Given the description of an element on the screen output the (x, y) to click on. 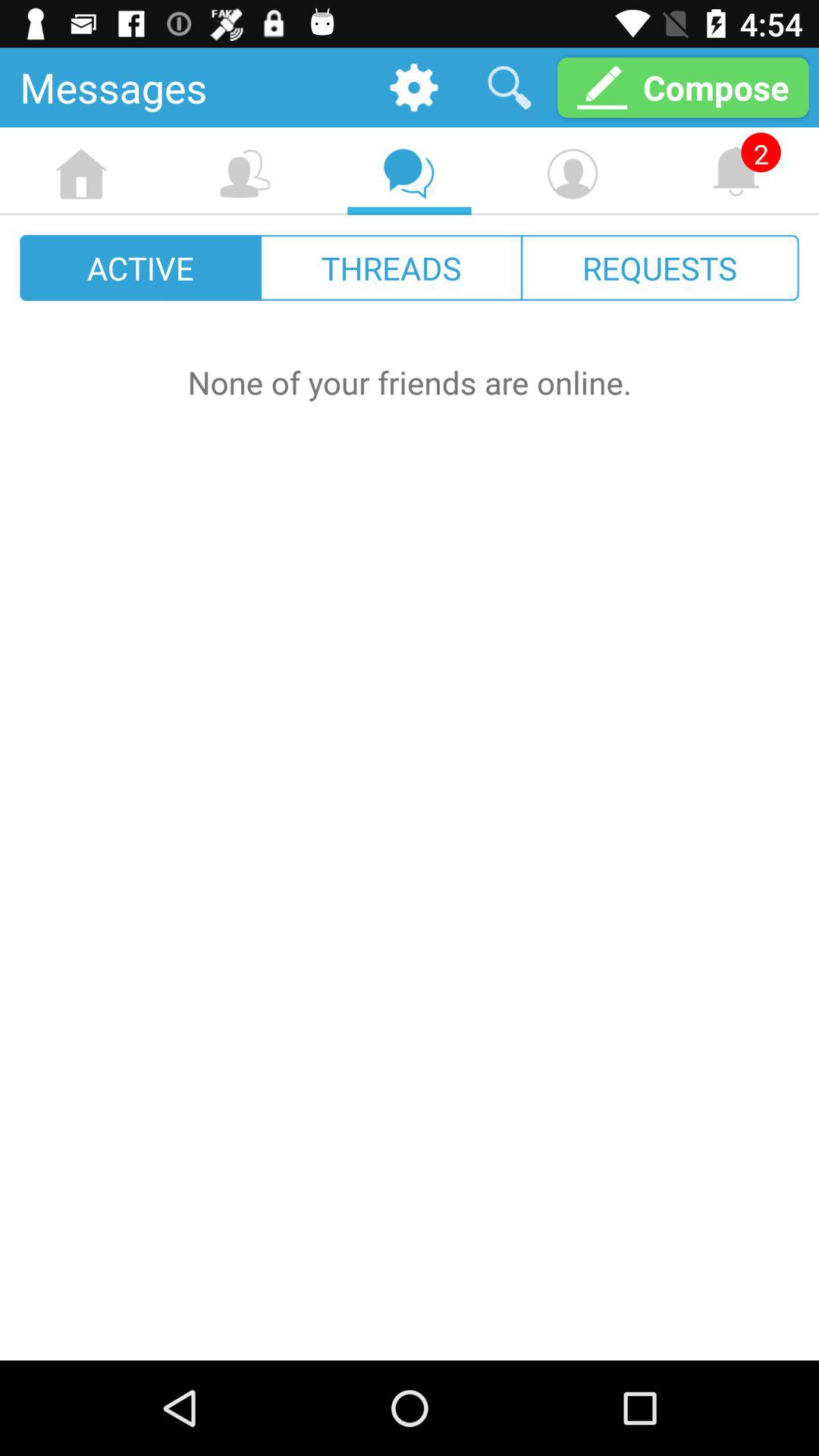
press item to the left of compose item (509, 87)
